Given the description of an element on the screen output the (x, y) to click on. 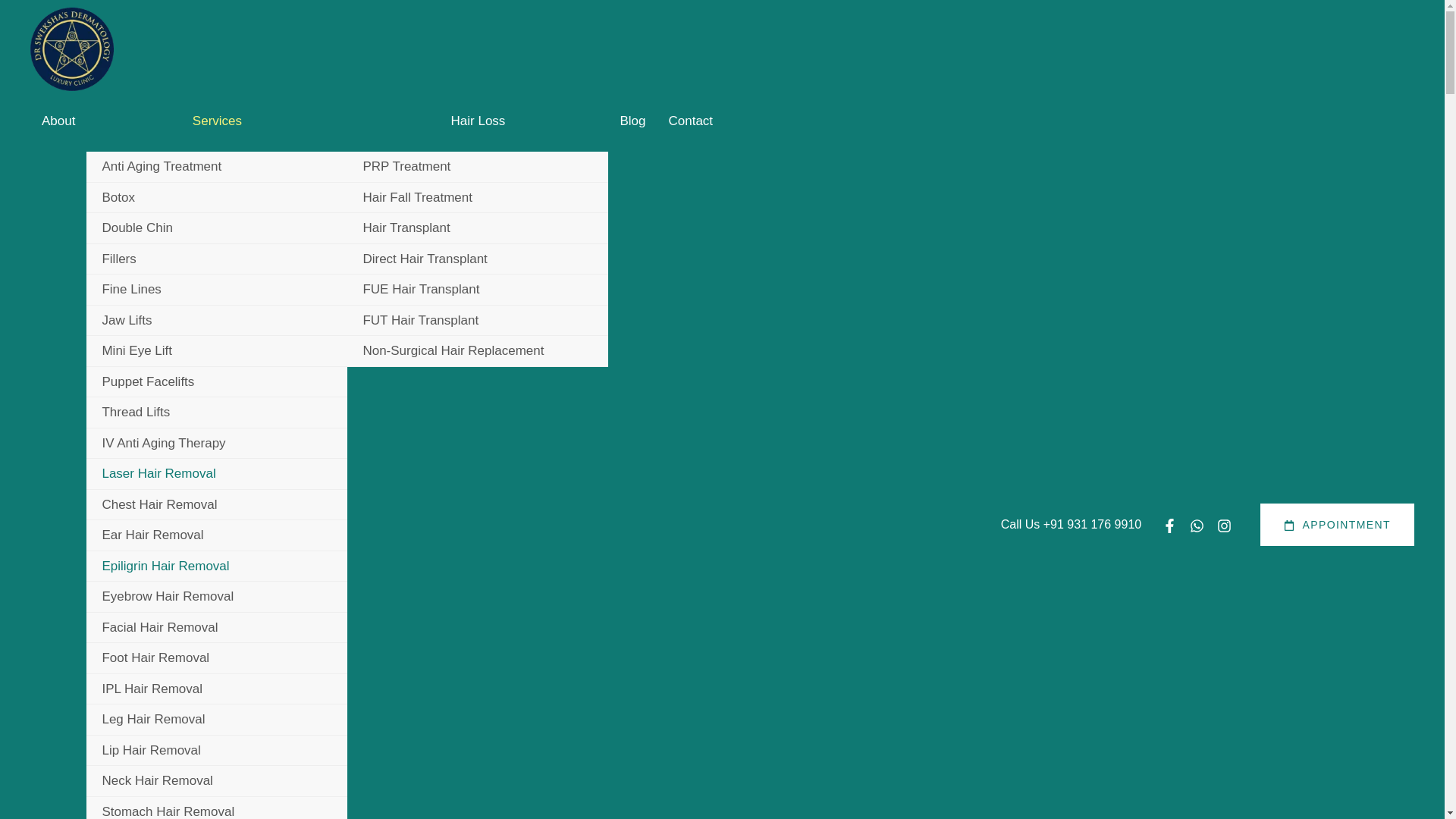
Anti Aging Treatment (216, 166)
Jaw Lifts (216, 319)
IPL Hair Removal (216, 688)
Facial Hair Removal (216, 627)
Mini Eye Lift (216, 350)
Hair Loss (477, 120)
Double Chin (216, 228)
Puppet Facelifts (216, 382)
IV Anti Aging Therapy (216, 442)
Leg Hair Removal (216, 719)
